Given the description of an element on the screen output the (x, y) to click on. 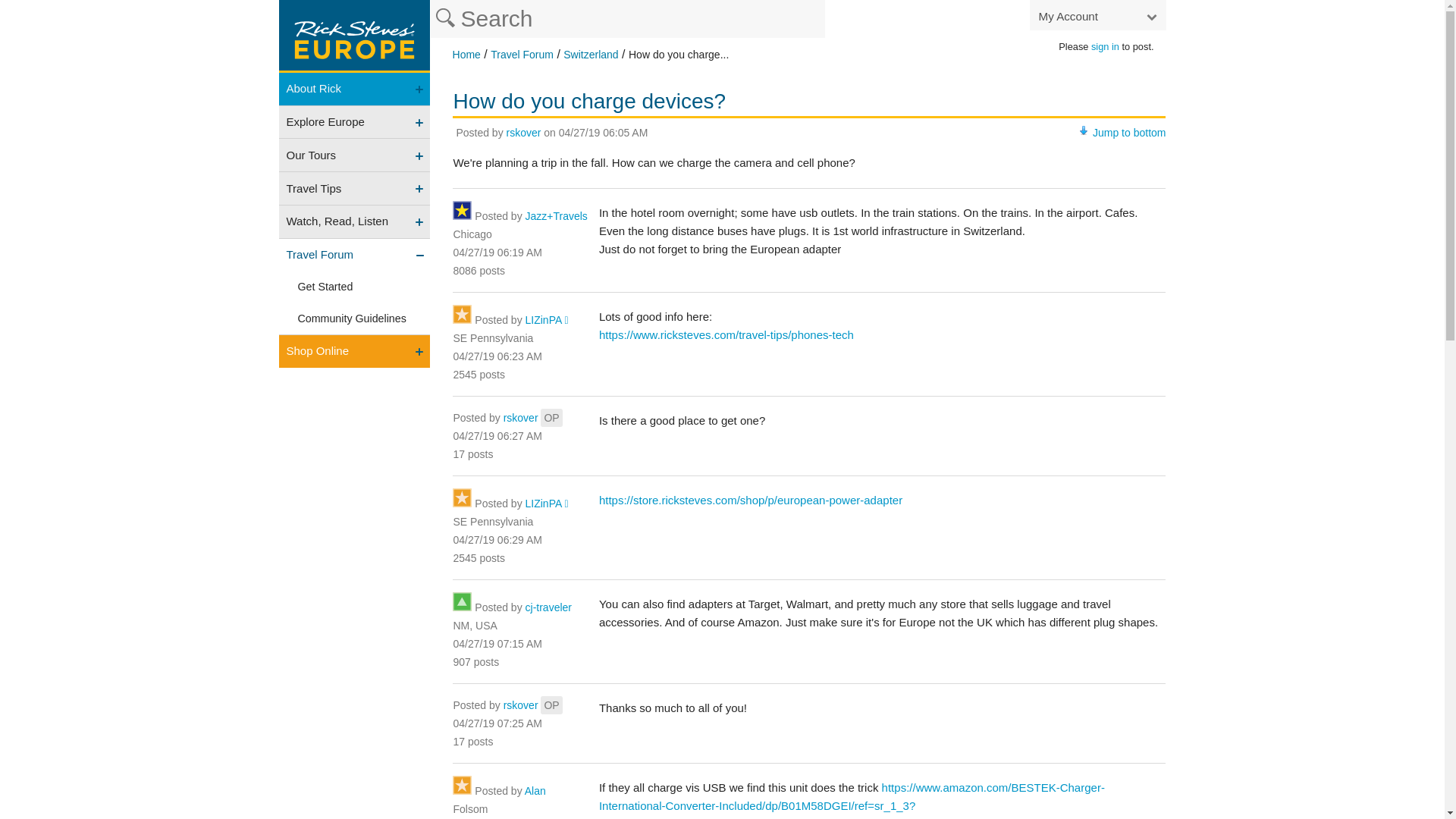
Home (466, 54)
Explore Europe (354, 122)
Jump to bottom (1129, 132)
Travel Forum (521, 54)
Reply: 1528947 (496, 435)
Topic: 285707 (603, 132)
Reply: 1528941 (496, 356)
Switzerland (590, 54)
Original Poster of Topic (551, 417)
Watch, Read, Listen (354, 221)
Our Tours (354, 154)
Get Started (354, 286)
My Account (1097, 15)
About Rick (354, 88)
